Given the description of an element on the screen output the (x, y) to click on. 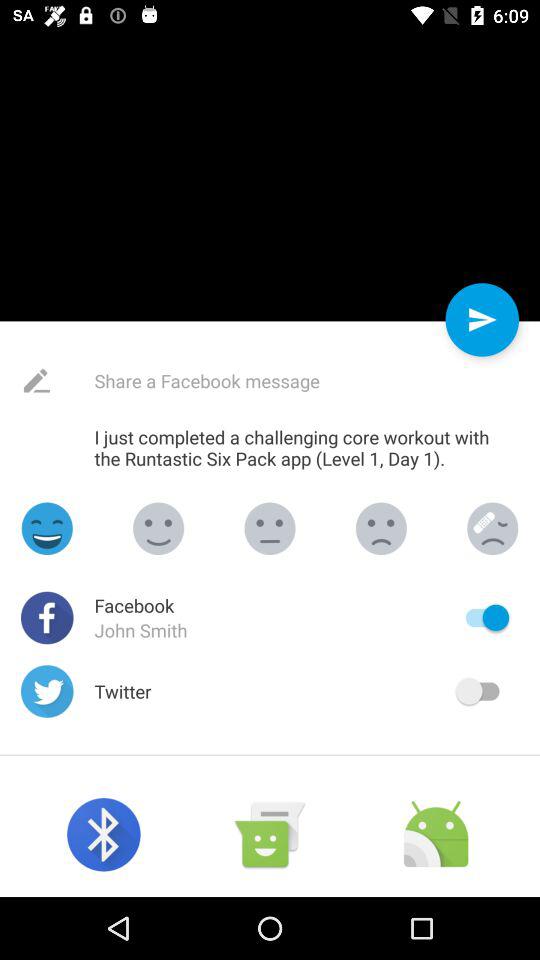
toggle twitter option (482, 691)
